Given the description of an element on the screen output the (x, y) to click on. 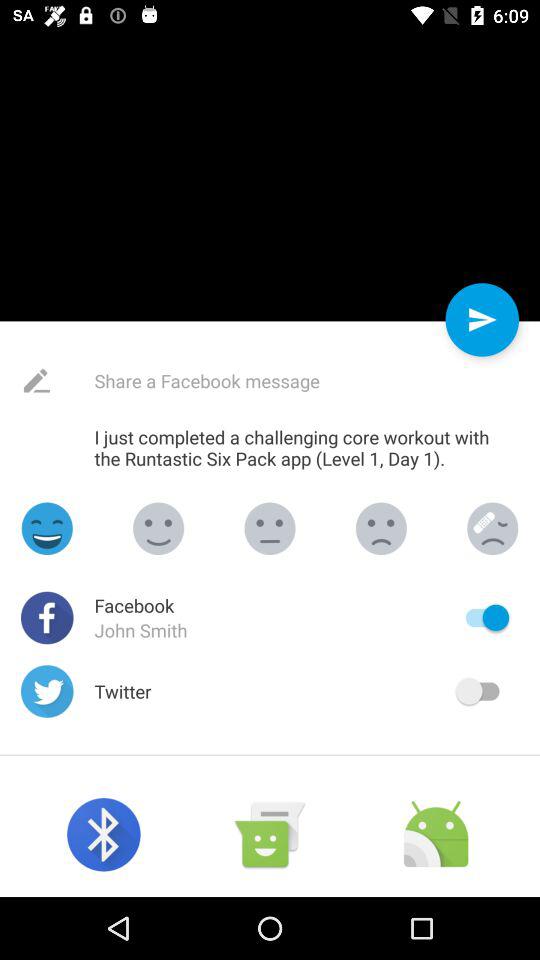
toggle twitter option (482, 691)
